Given the description of an element on the screen output the (x, y) to click on. 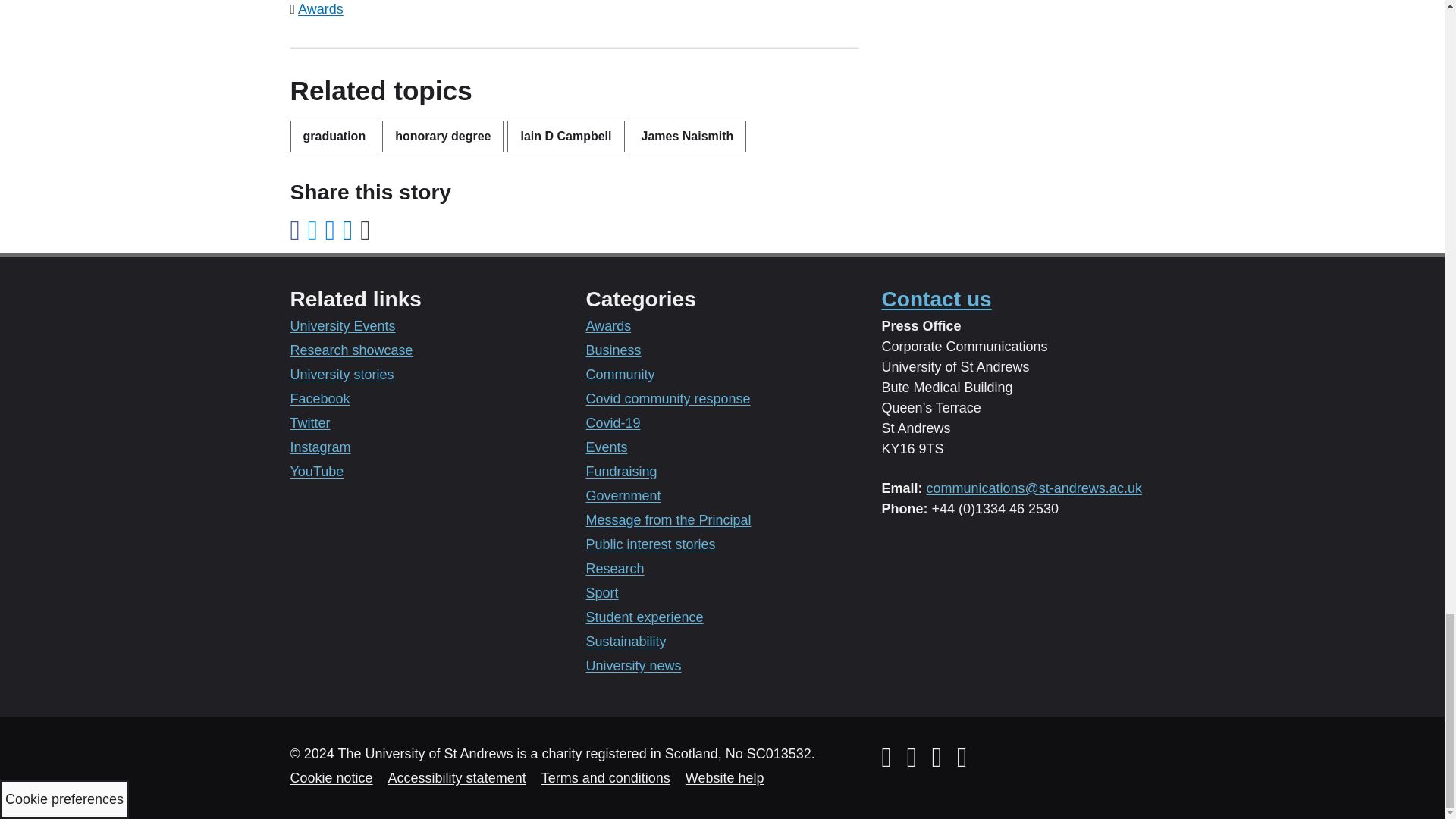
graduation (333, 136)
Awards (320, 8)
Iain D Campbell (565, 136)
honorary degree (442, 136)
James Naismith (687, 136)
